Given the description of an element on the screen output the (x, y) to click on. 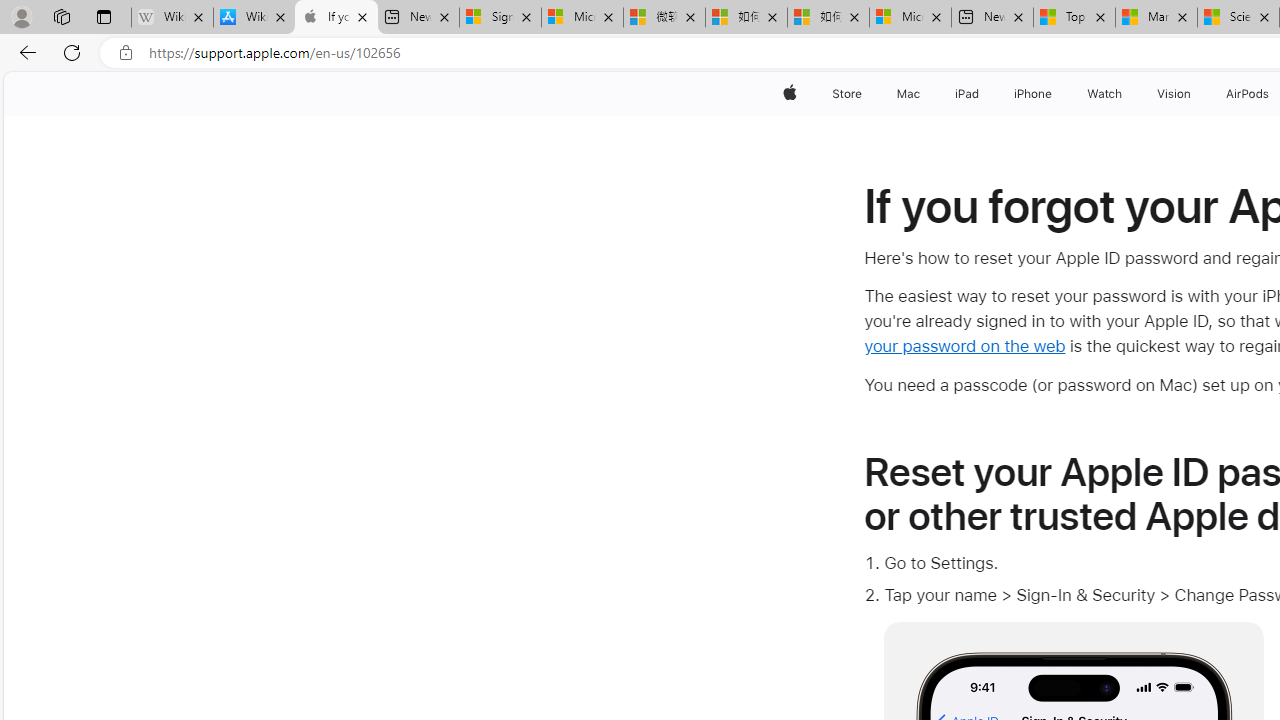
iPad (965, 93)
Mac menu (922, 93)
iPhone menu (1055, 93)
Mac (908, 93)
iPhone (1033, 93)
AirPods (1247, 93)
Vision (1174, 93)
iPad (965, 93)
Store menu (864, 93)
